Given the description of an element on the screen output the (x, y) to click on. 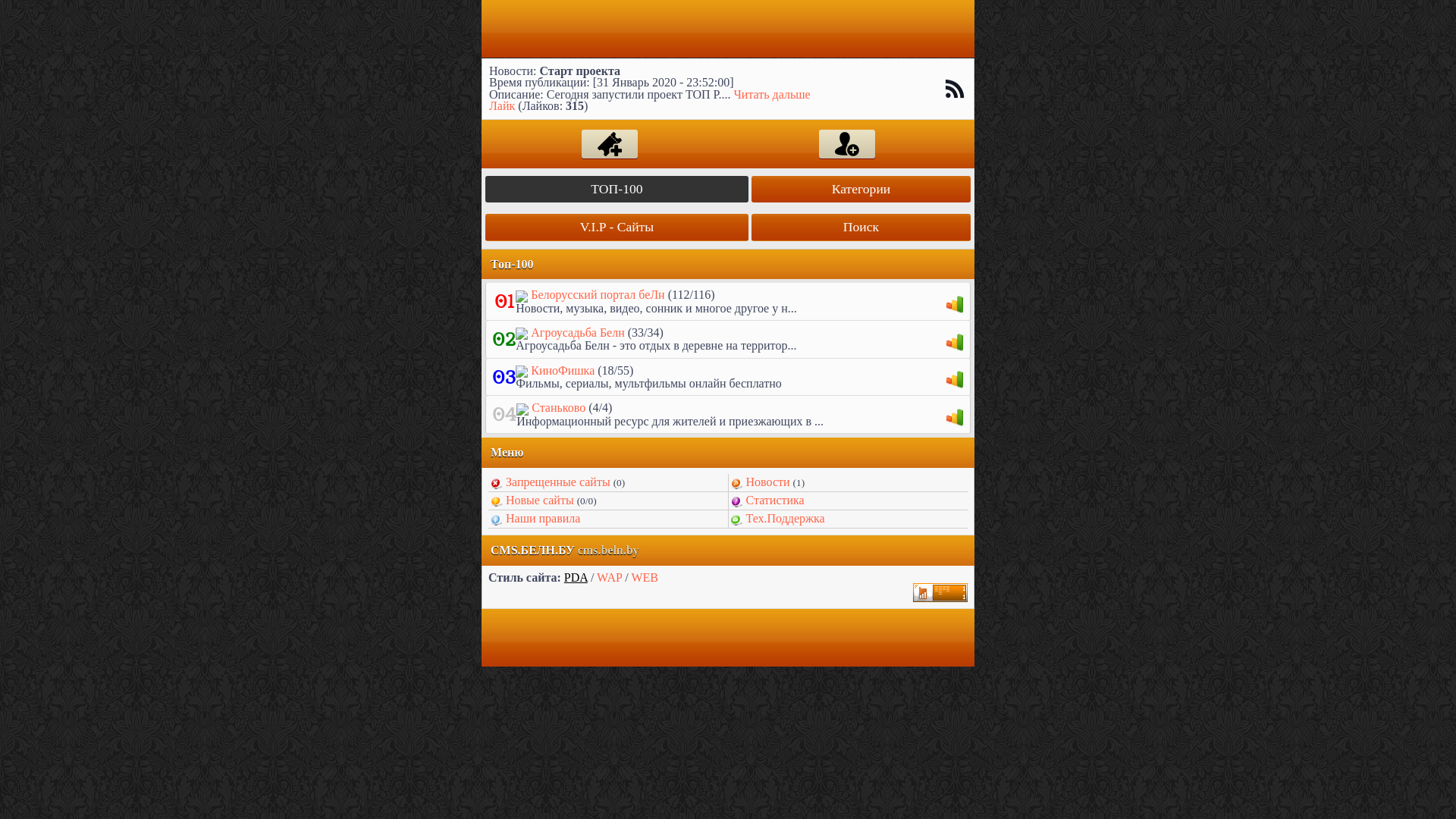
cms.beln.by Element type: text (608, 549)
WEB Element type: text (644, 577)
WAP Element type: text (608, 577)
